Given the description of an element on the screen output the (x, y) to click on. 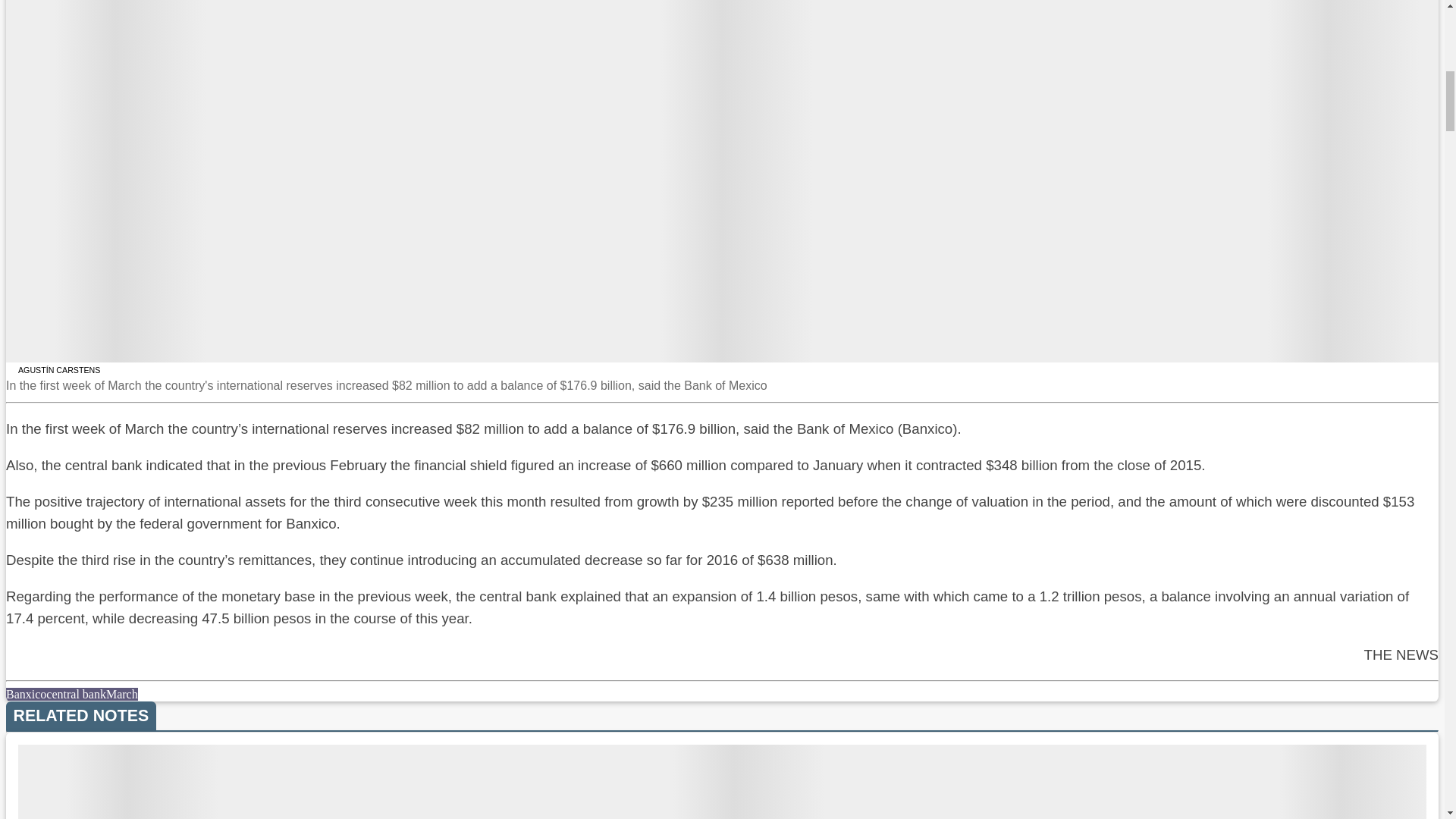
March (122, 694)
central bank (76, 694)
Banxico (25, 694)
